Given the description of an element on the screen output the (x, y) to click on. 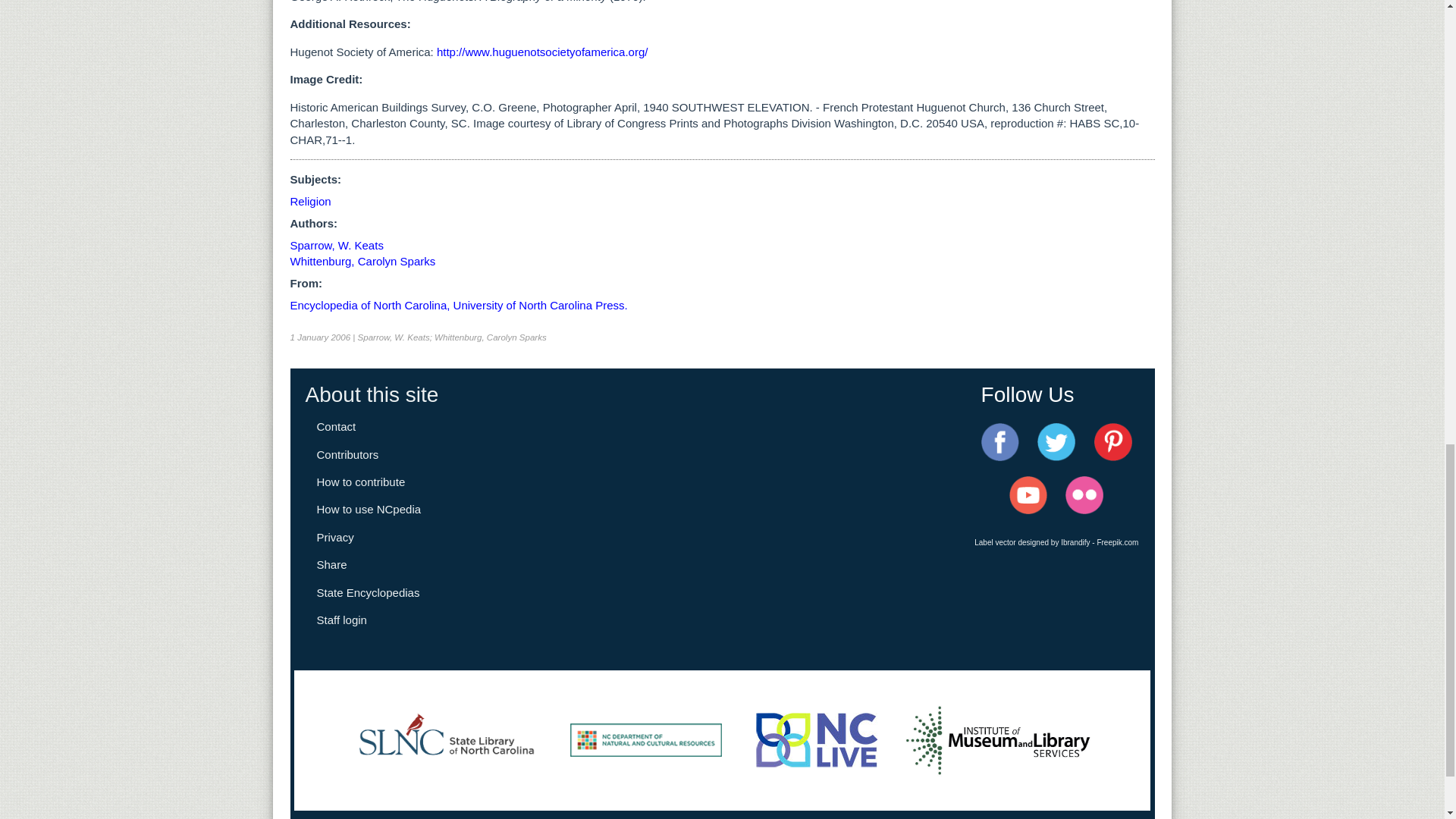
About this site (371, 394)
Contributors (347, 454)
Whittenburg, Carolyn Sparks (362, 260)
Contact (336, 426)
Religion (309, 201)
Sparrow, W. Keats (335, 245)
